Given the description of an element on the screen output the (x, y) to click on. 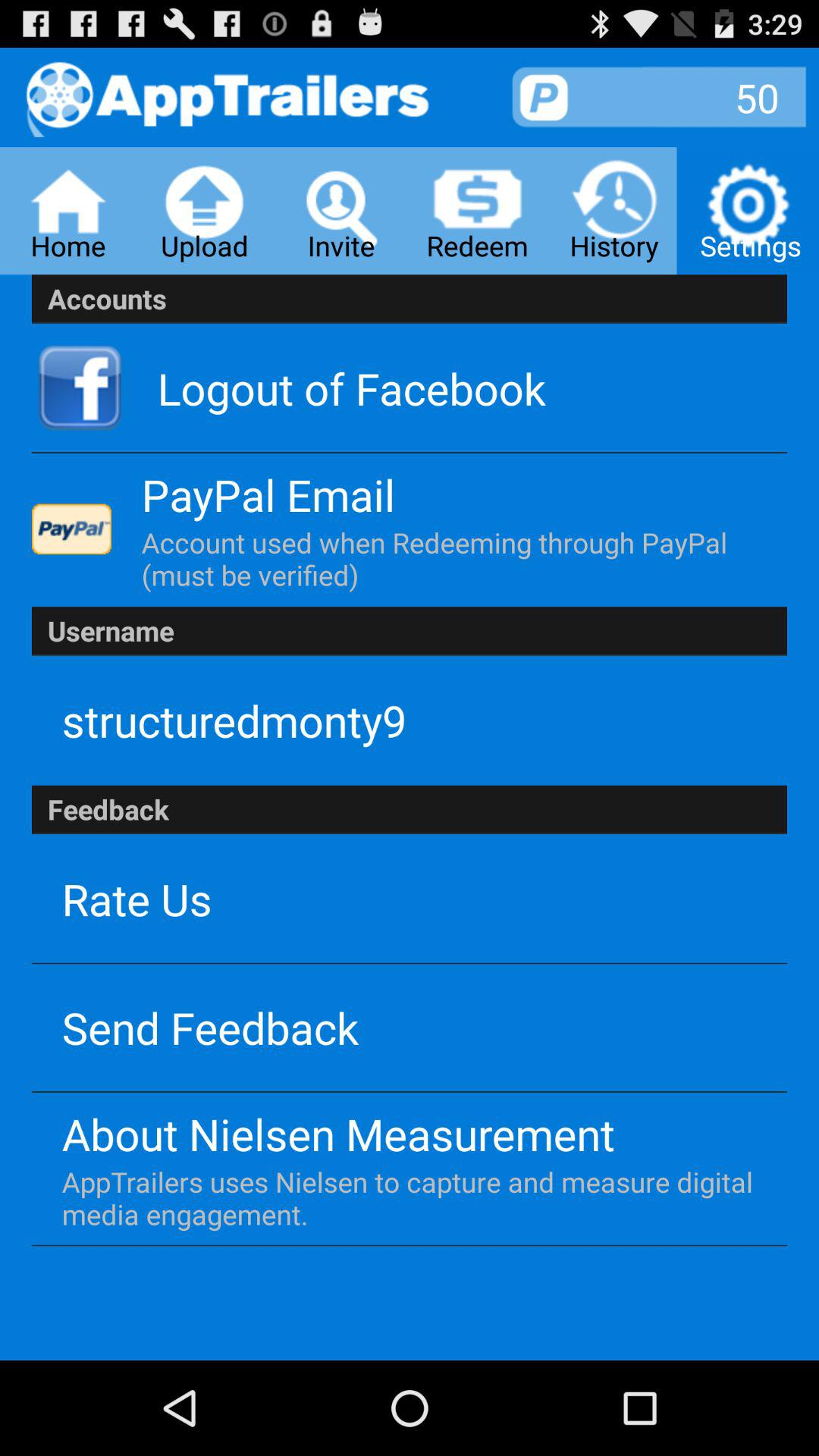
scroll until username item (409, 630)
